Given the description of an element on the screen output the (x, y) to click on. 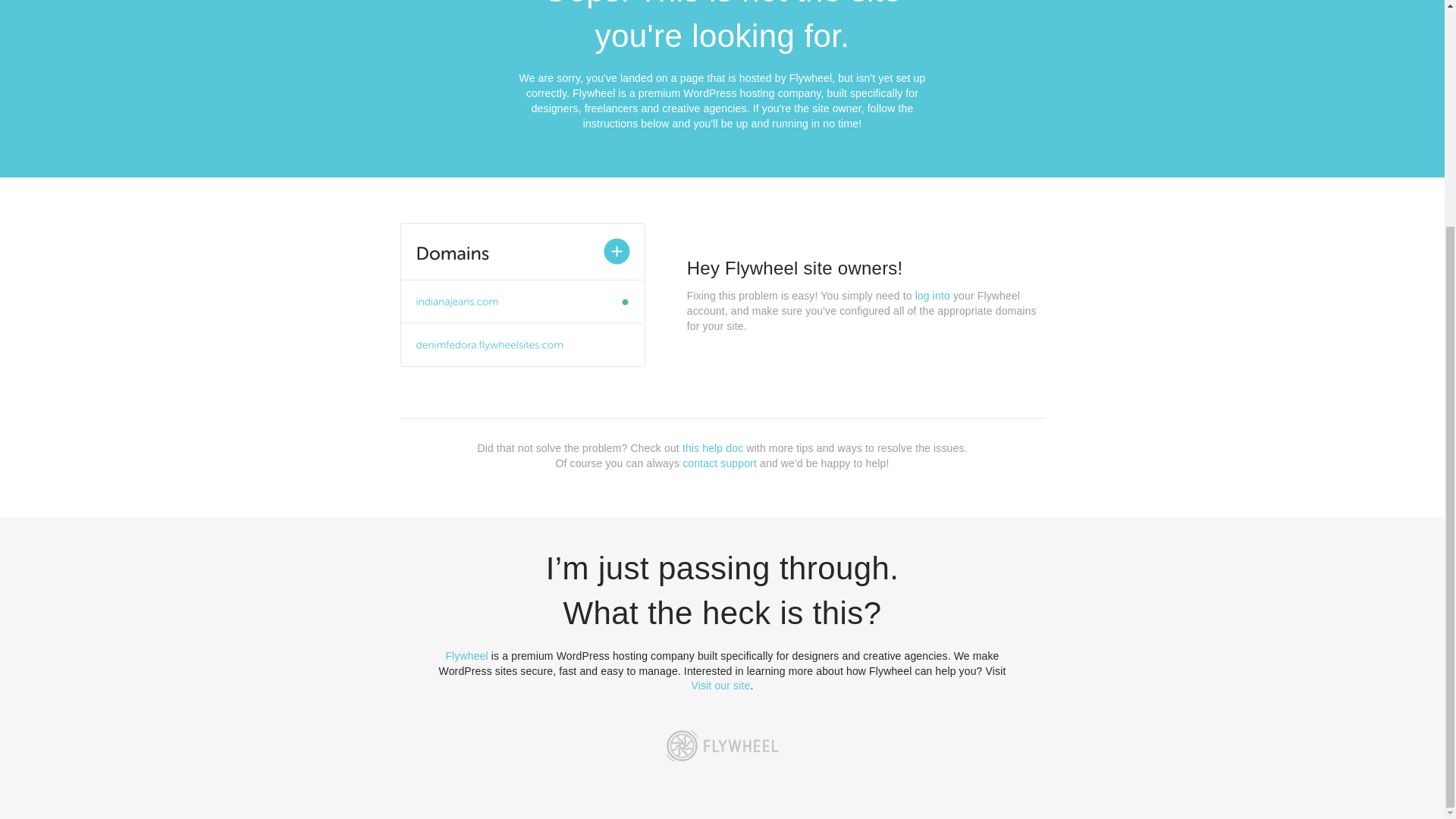
Flywheel (466, 655)
log into (932, 295)
this help doc (712, 448)
contact support (719, 463)
Visit our site (721, 685)
